Given the description of an element on the screen output the (x, y) to click on. 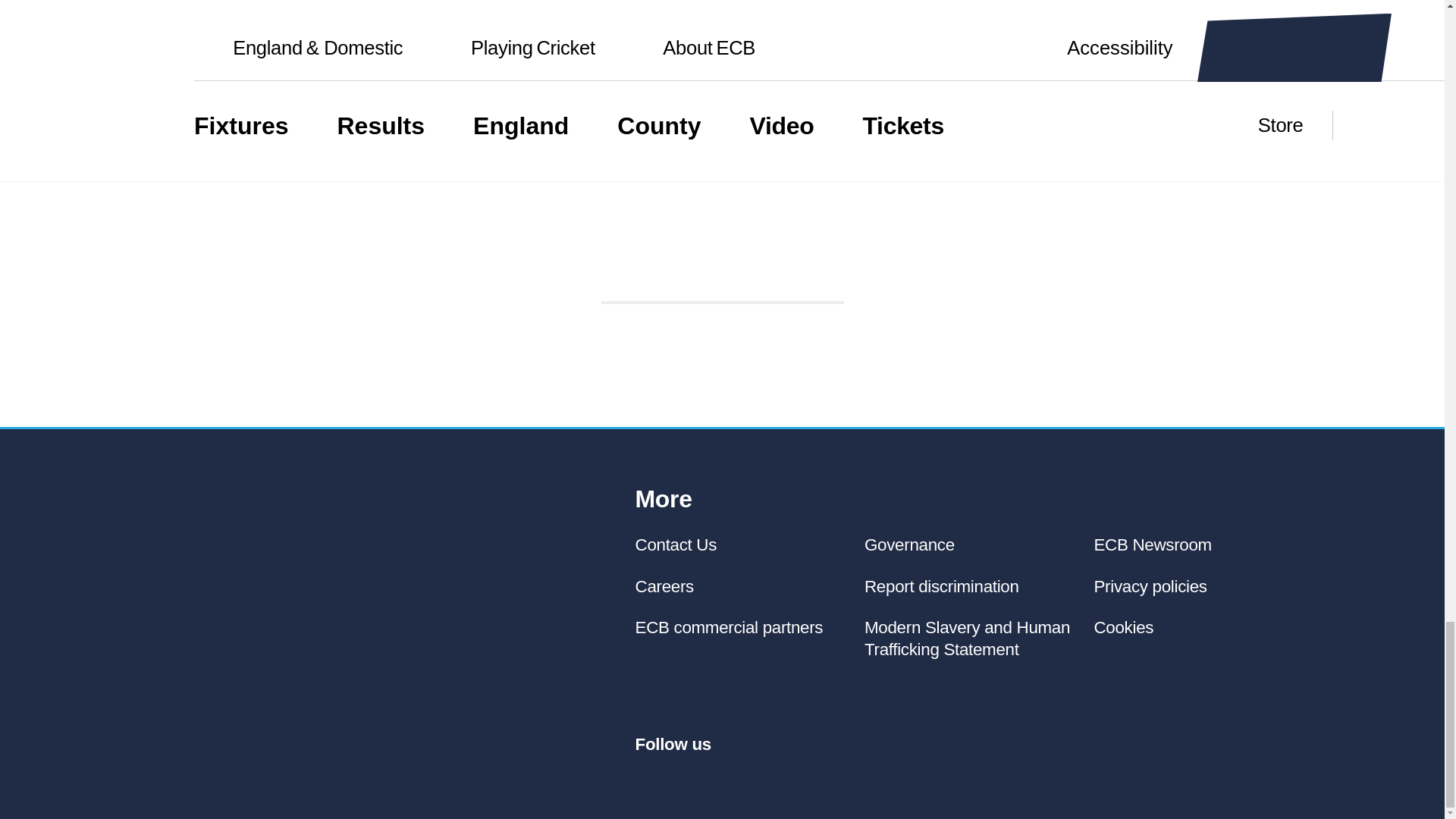
Sky Sports (637, 121)
Castore (626, 253)
Rado (861, 253)
BBC Sport (794, 121)
Cinch (722, 188)
Vitality (483, 254)
Rothesay (224, 254)
IG (558, 253)
Laithwaites (736, 254)
Metro Bank (368, 254)
